Given the description of an element on the screen output the (x, y) to click on. 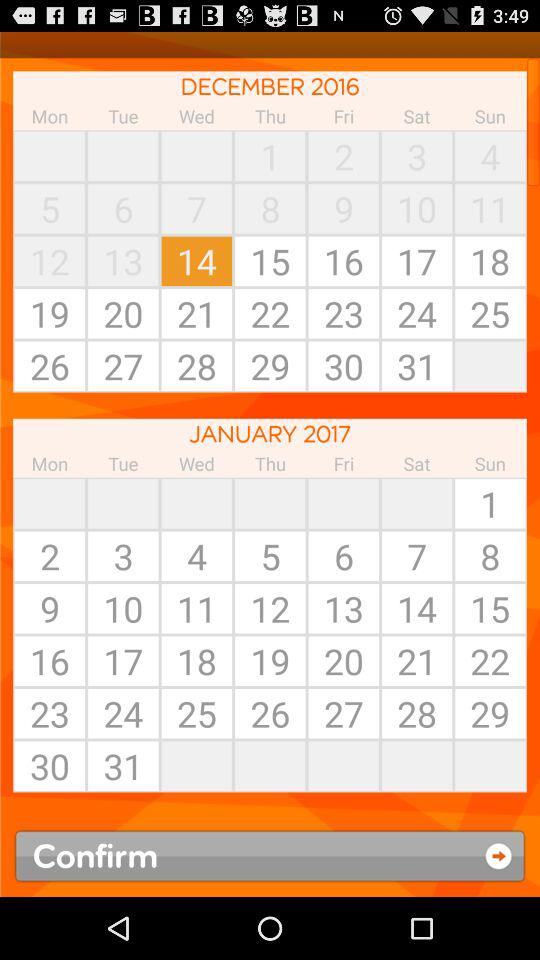
choose app above the 2 (123, 503)
